Given the description of an element on the screen output the (x, y) to click on. 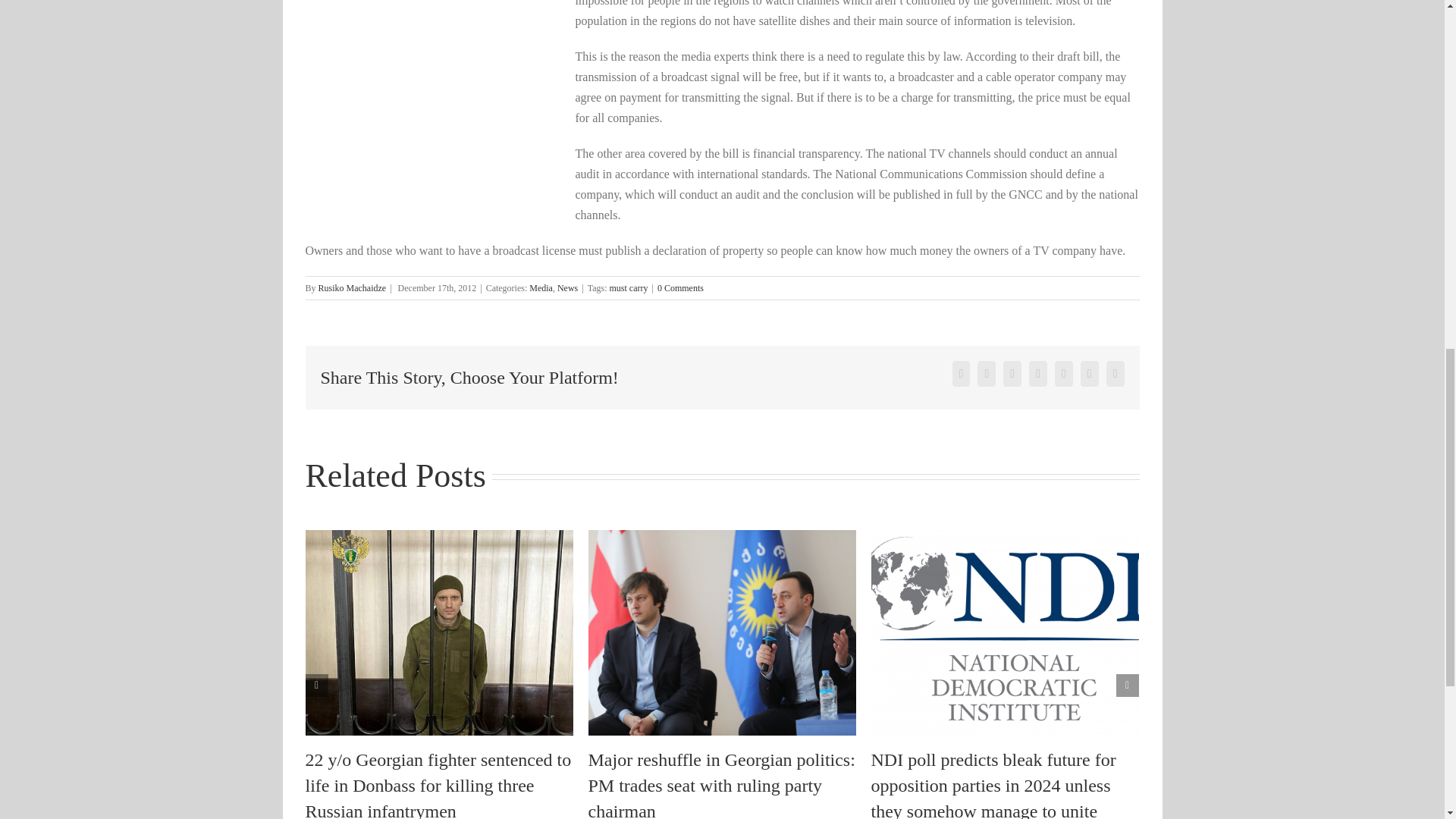
Advertisement (431, 104)
Posts by Rusiko Machaidze (352, 287)
